Given the description of an element on the screen output the (x, y) to click on. 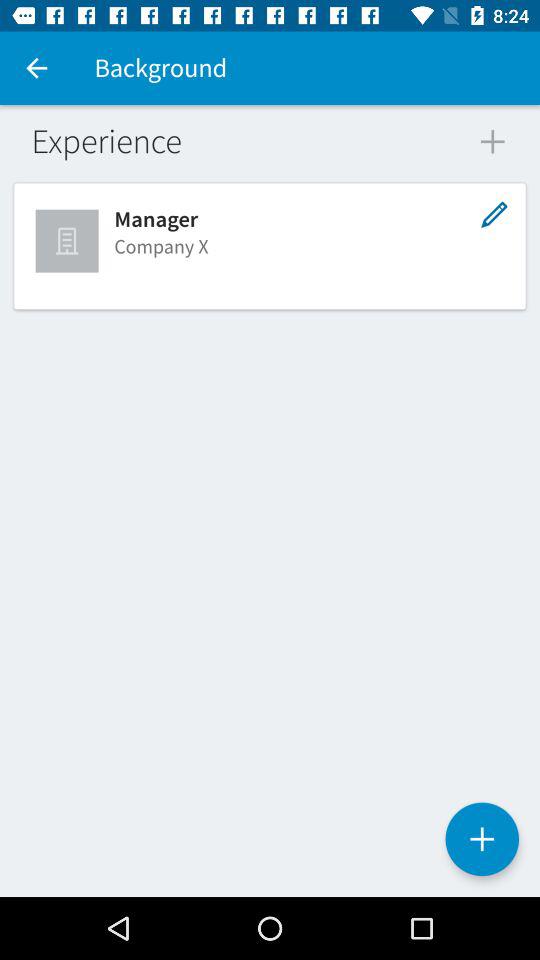
select the item to the left of the background icon (36, 68)
